Given the description of an element on the screen output the (x, y) to click on. 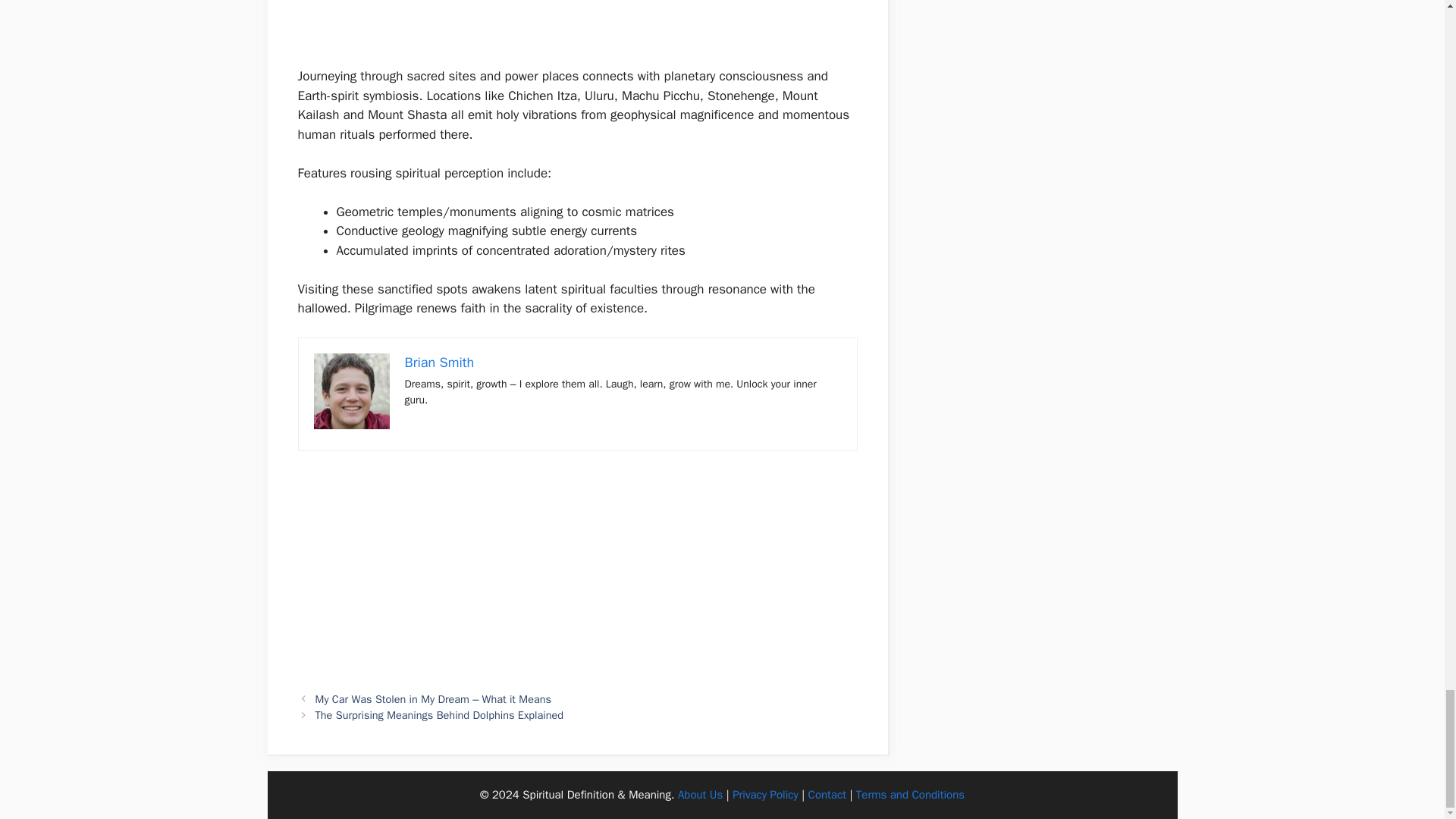
Privacy Policy (764, 794)
Contact (826, 794)
Brian Smith (439, 362)
Terms and Conditions (909, 794)
About Us (700, 794)
Terms and Conditions (909, 794)
About Us (700, 794)
The Surprising Meanings Behind Dolphins Explained (439, 714)
Privacy Policy (764, 794)
Contact (826, 794)
